Given the description of an element on the screen output the (x, y) to click on. 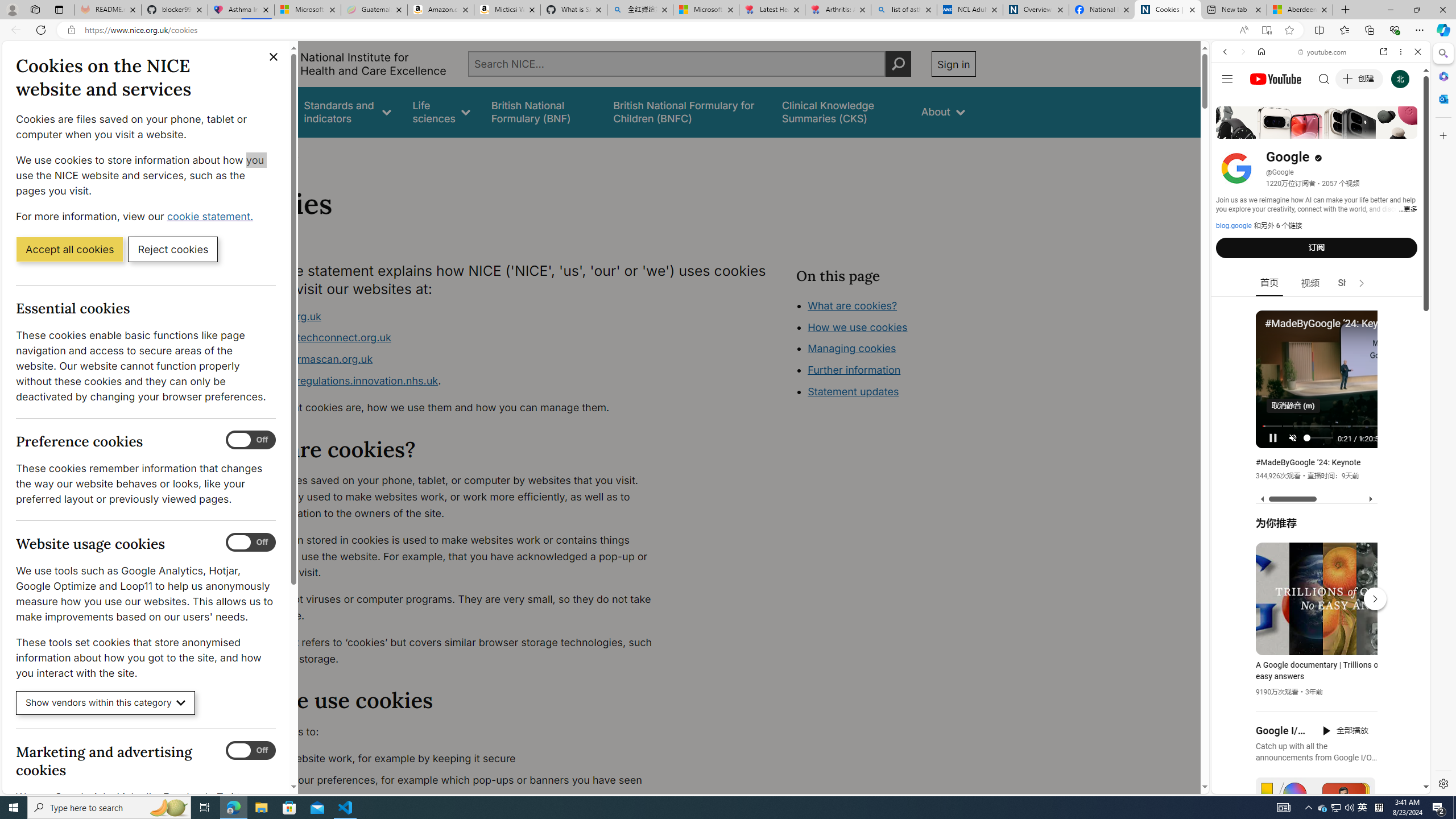
Class: in-page-nav__list (884, 349)
Website usage cookies (250, 542)
Microsoft Start (706, 9)
Forward (1242, 51)
This site scope (1259, 102)
Sign in (952, 63)
youtube.com (1322, 51)
Google I/O 2024 (1281, 730)
